Given the description of an element on the screen output the (x, y) to click on. 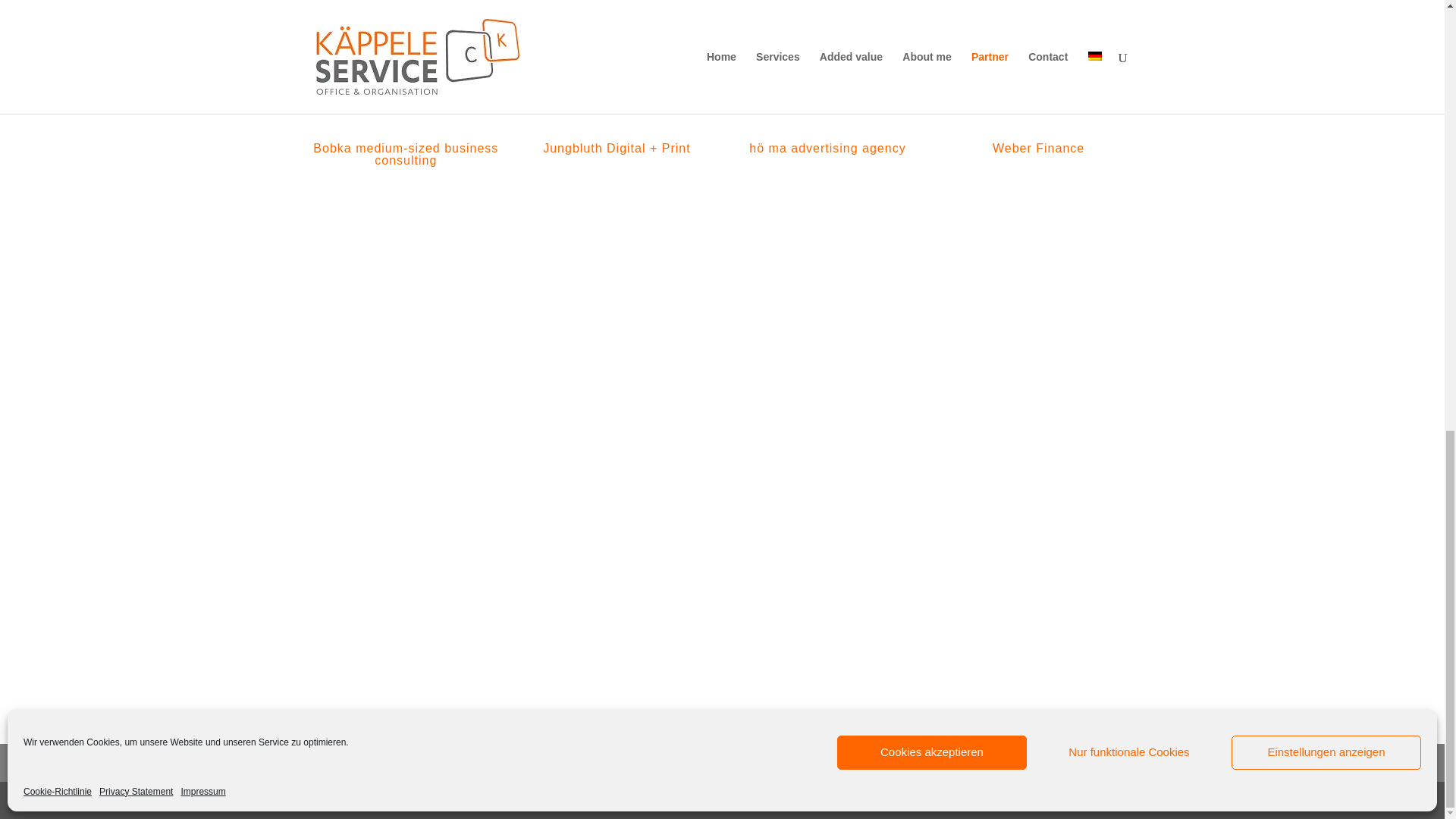
Contact (596, 762)
Privacy policy (453, 762)
Home (534, 762)
Legal Notice (350, 762)
